Given the description of an element on the screen output the (x, y) to click on. 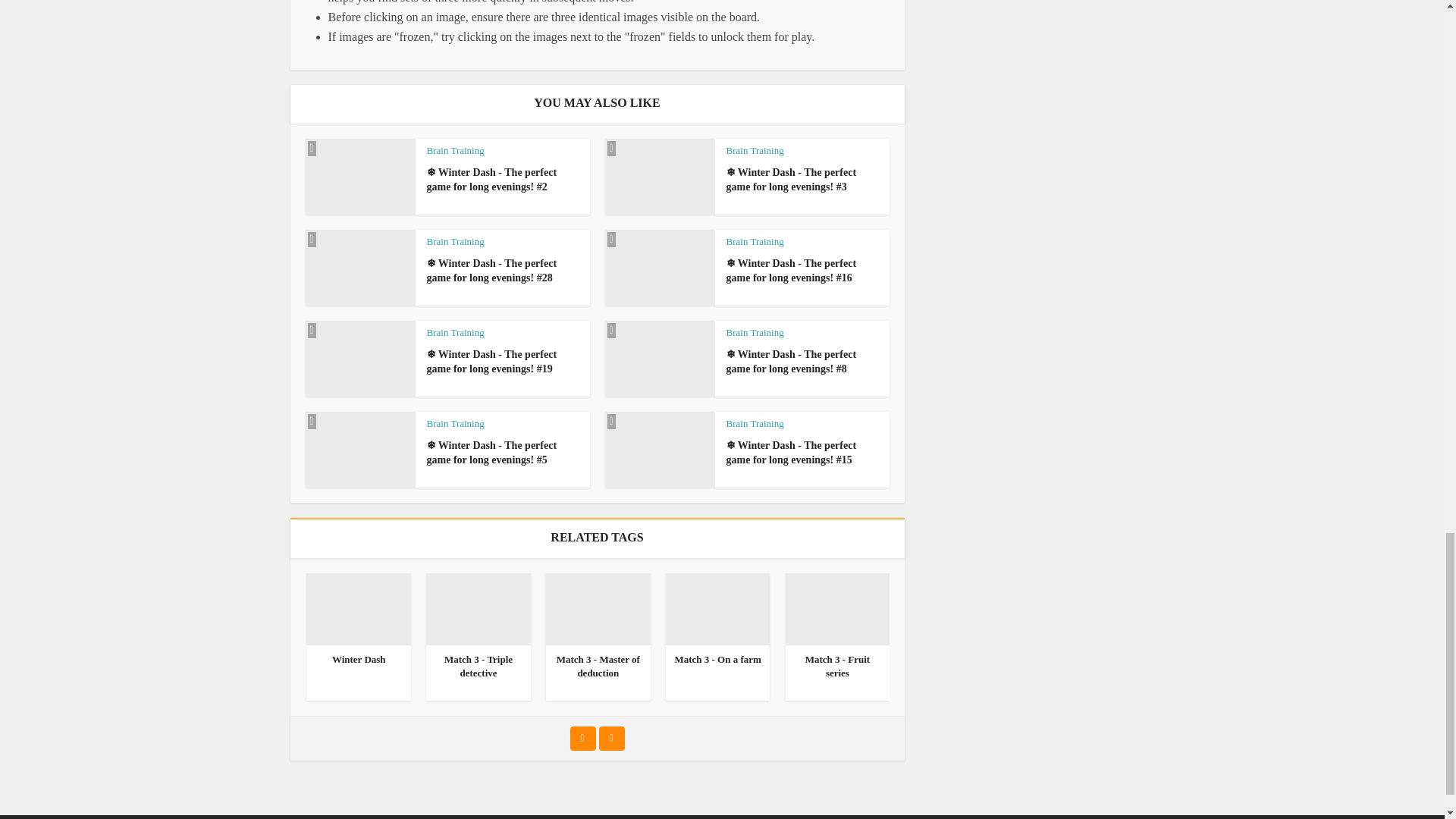
Brain Training (454, 150)
Brain Training (755, 150)
Brain Training (454, 241)
